Given the description of an element on the screen output the (x, y) to click on. 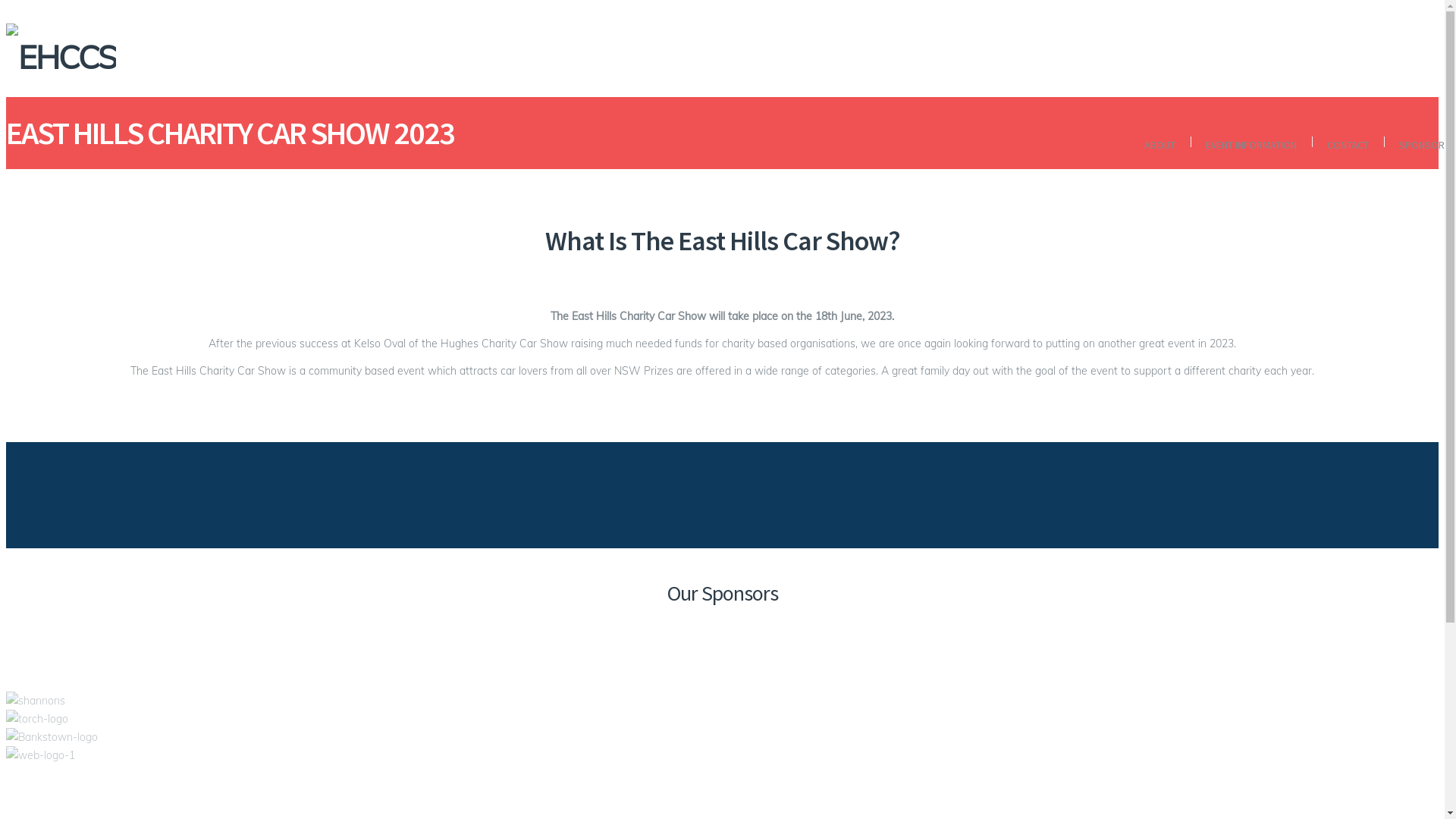
EHCCS Element type: hover (728, 50)
SPONSORS Element type: text (1420, 144)
CONTACT Element type: text (1347, 144)
EVENT INFORMATION Element type: text (1251, 144)
ABOUT Element type: text (1159, 144)
